Given the description of an element on the screen output the (x, y) to click on. 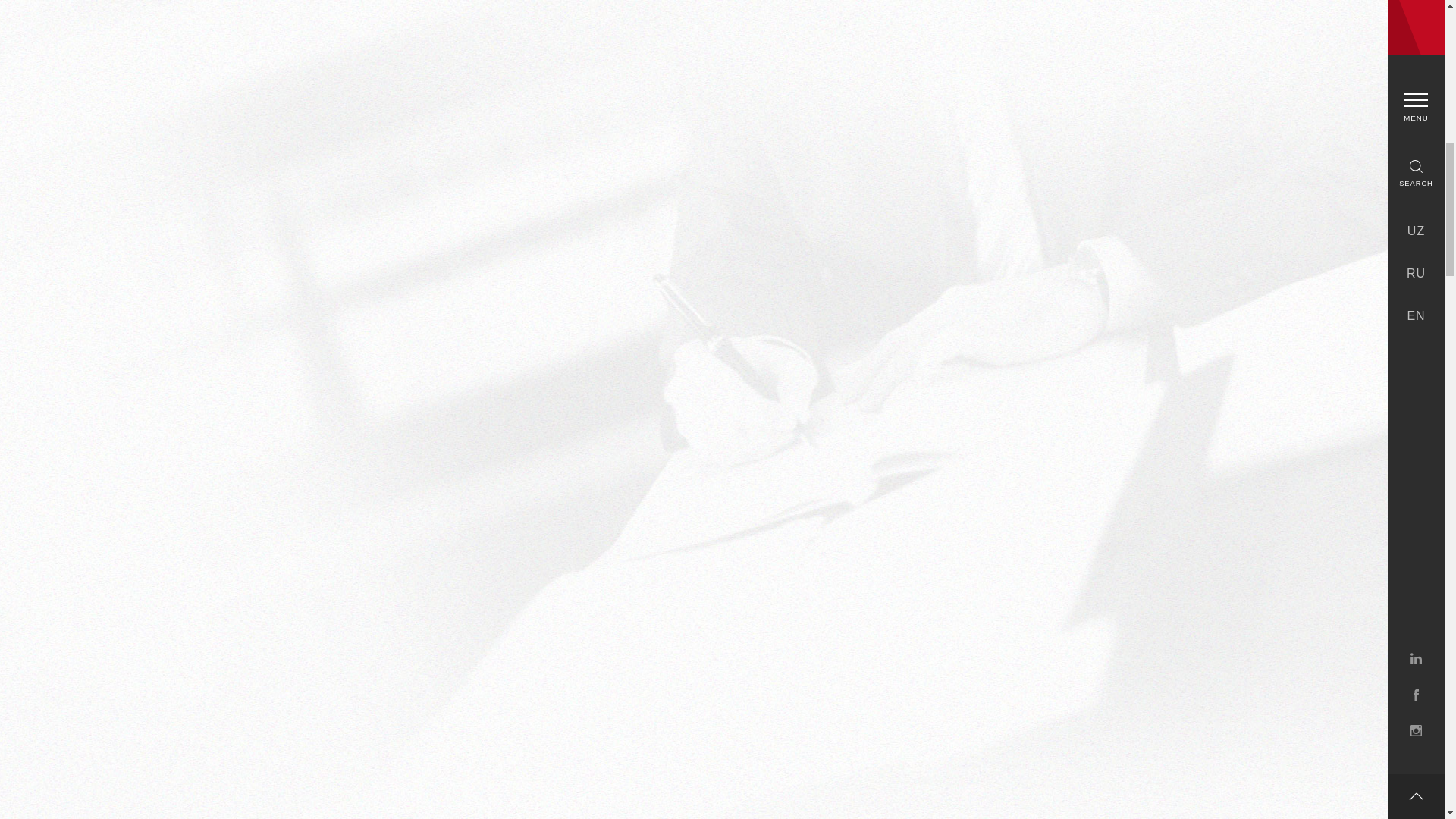
RU (1415, 273)
EN (1415, 316)
UZ (1415, 231)
SEARCH (1415, 173)
